Given the description of an element on the screen output the (x, y) to click on. 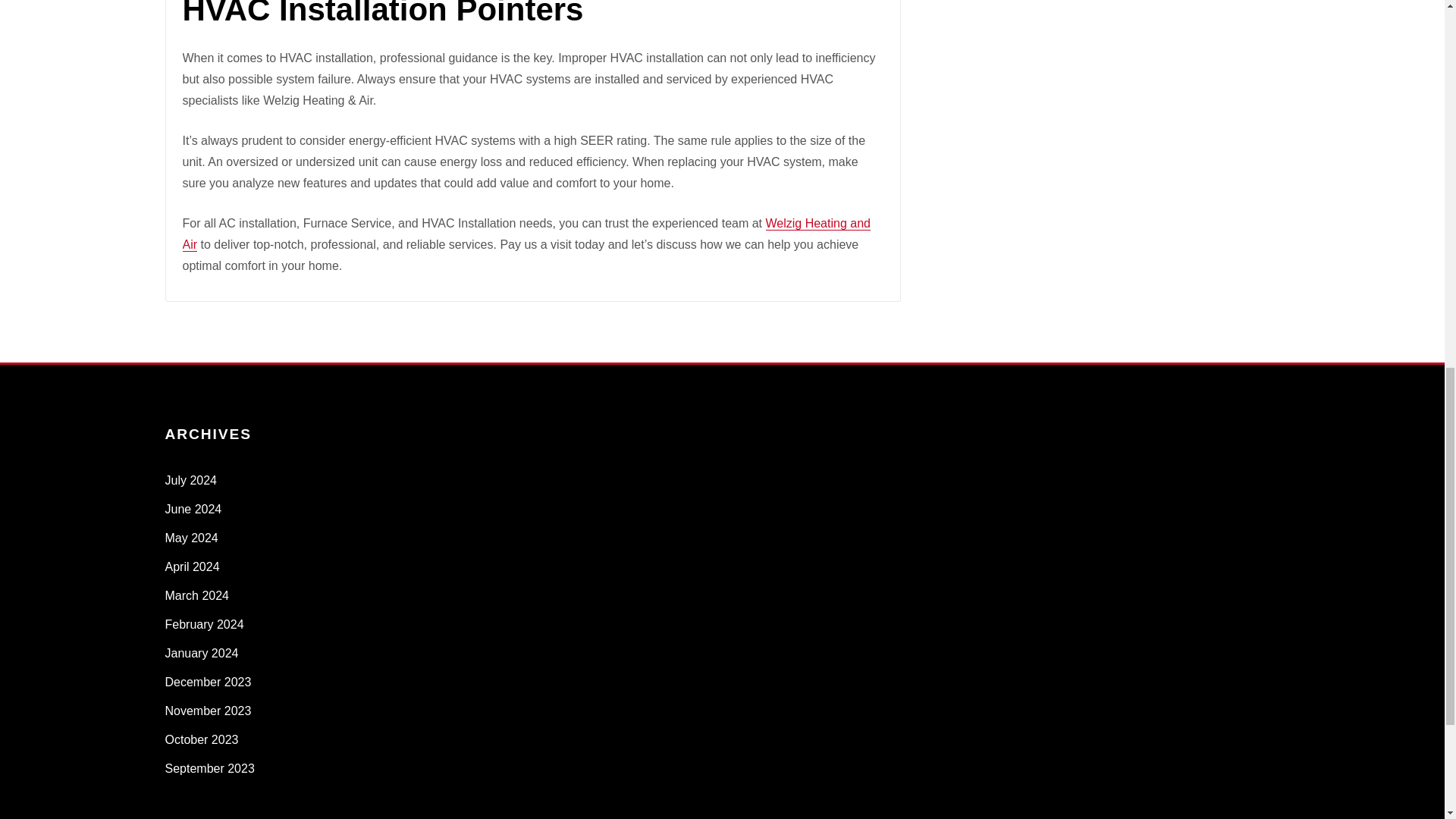
April 2024 (192, 566)
November 2023 (208, 710)
June 2024 (193, 508)
December 2023 (208, 681)
March 2024 (197, 594)
September 2023 (209, 768)
May 2024 (191, 537)
July 2024 (190, 480)
Welzig Heating and Air (525, 233)
January 2024 (201, 653)
October 2023 (201, 739)
February 2024 (204, 624)
